Given the description of an element on the screen output the (x, y) to click on. 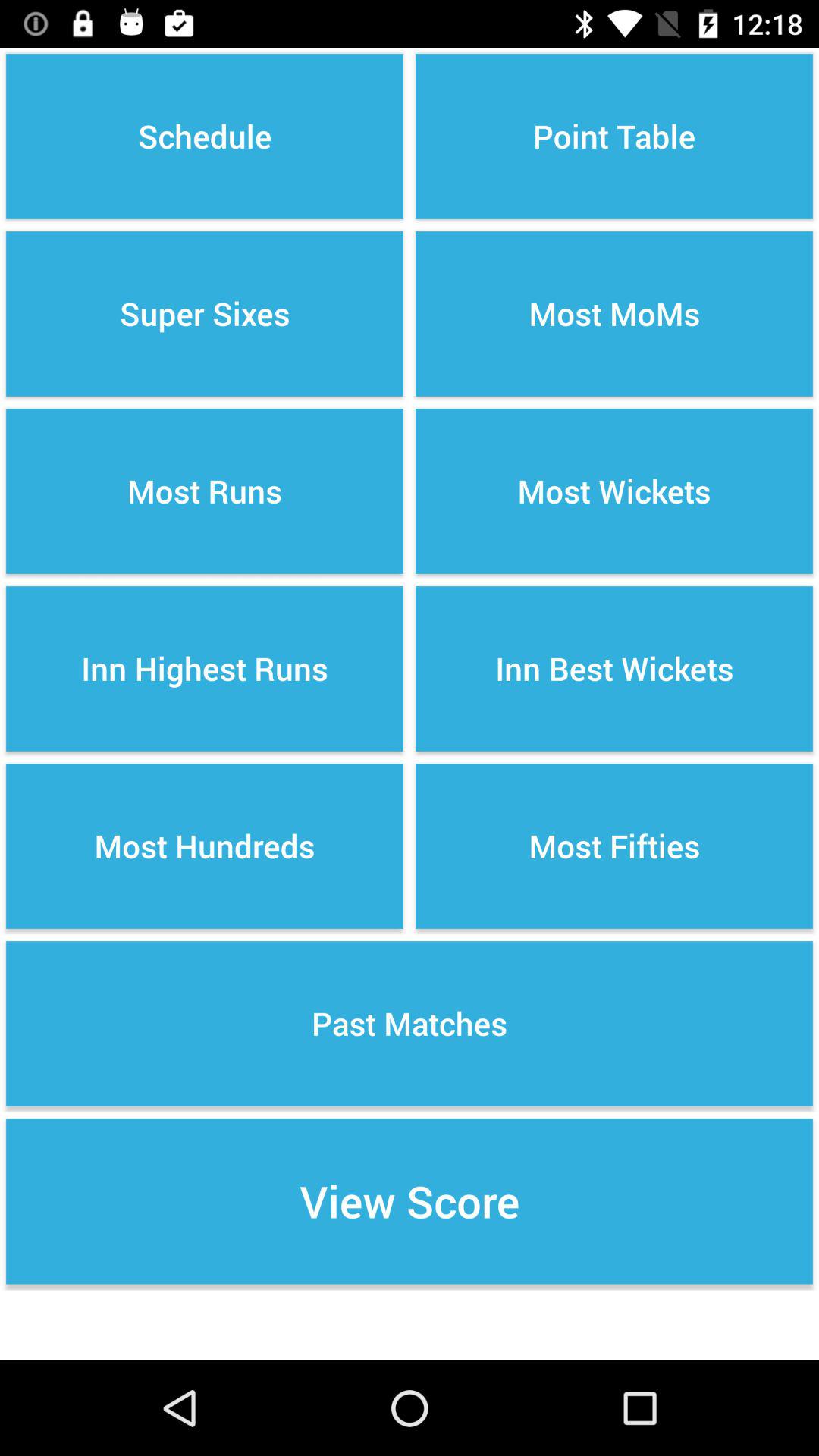
flip until most runs icon (204, 490)
